Given the description of an element on the screen output the (x, y) to click on. 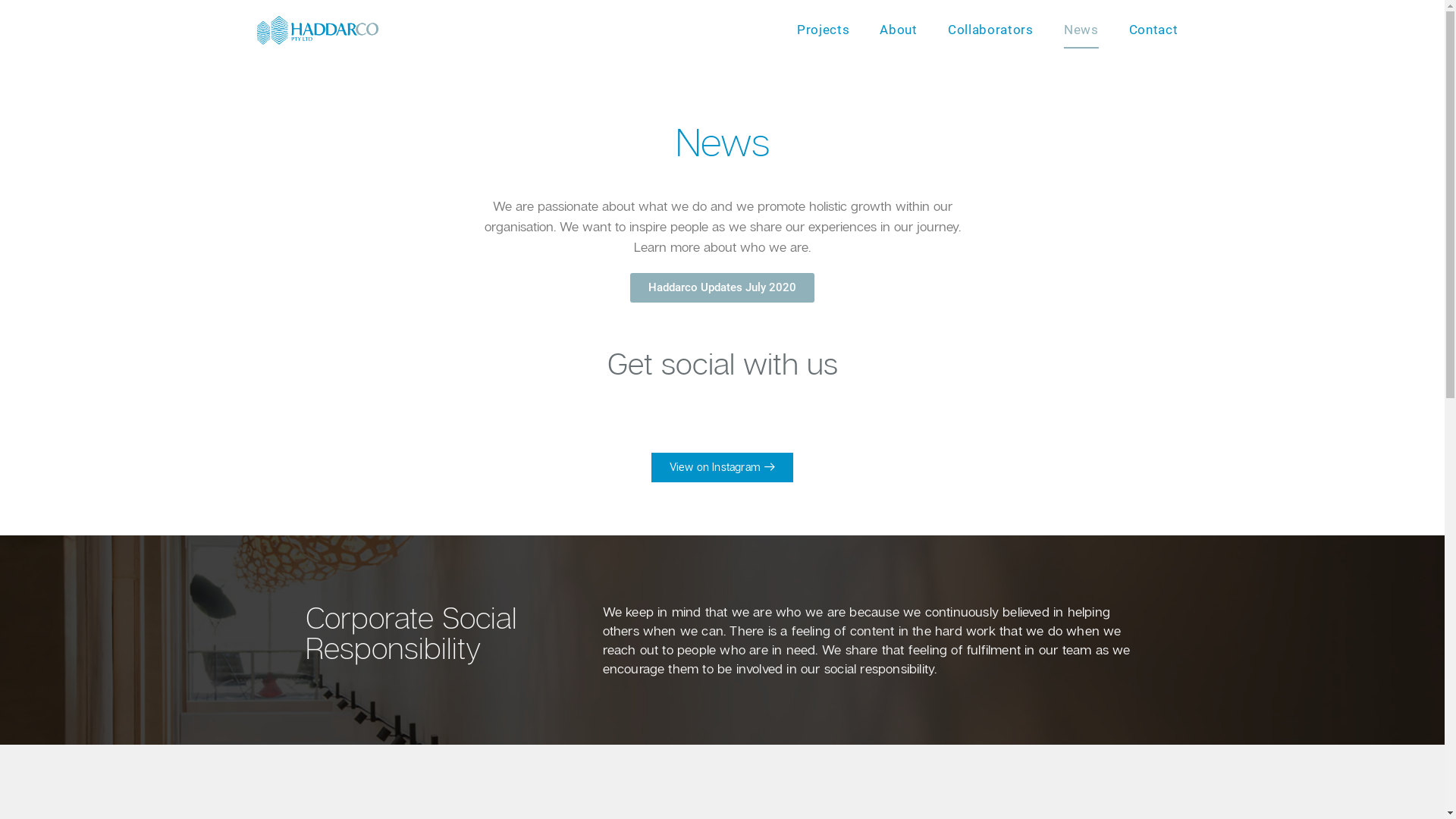
Projects Element type: text (823, 30)
Collaborators Element type: text (990, 30)
Haddarco Updates July 2020 Element type: text (722, 287)
About Element type: text (898, 30)
View on Instagram Element type: text (722, 467)
Contact Element type: text (1153, 30)
News Element type: text (1080, 30)
